Given the description of an element on the screen output the (x, y) to click on. 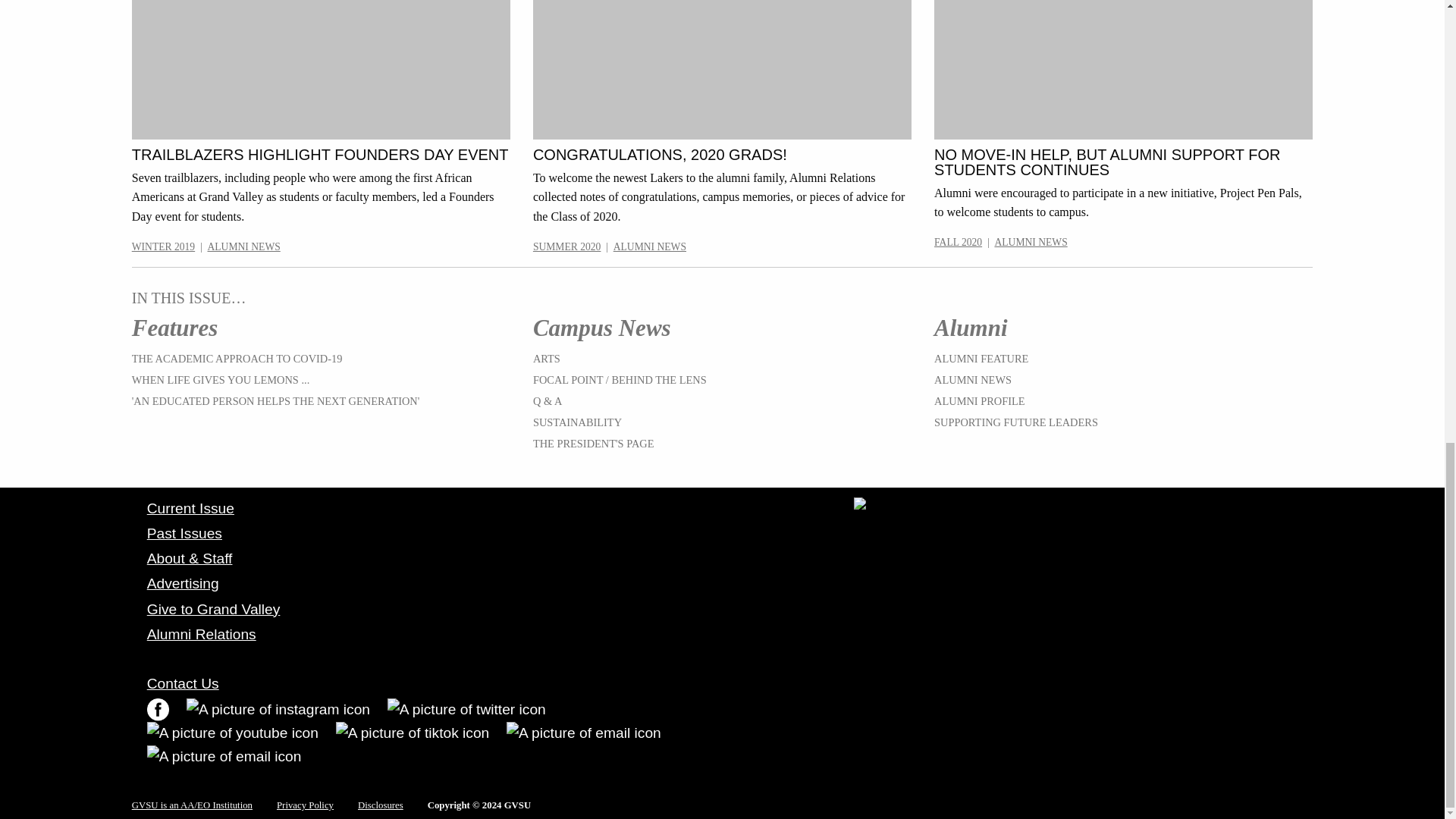
FALL 2020 (957, 242)
TRAILBLAZERS HIGHLIGHT FOUNDERS DAY EVENT (320, 154)
SUMMER 2020 (566, 246)
WHEN LIFE GIVES YOU LEMONS ... (221, 379)
THE ACADEMIC APPROACH TO COVID-19 (237, 358)
ALUMNI NEWS (244, 246)
ALUMNI NEWS (1030, 242)
CONGRATULATIONS, 2020 GRADS! (546, 358)
NO MOVE-IN HELP, BUT ALUMNI SUPPORT FOR STUDENTS CONTINUES (659, 154)
'AN EDUCATED PERSON HELPS THE NEXT GENERATION' (1106, 162)
WINTER 2019 (276, 400)
ALUMNI NEWS (163, 246)
